Given the description of an element on the screen output the (x, y) to click on. 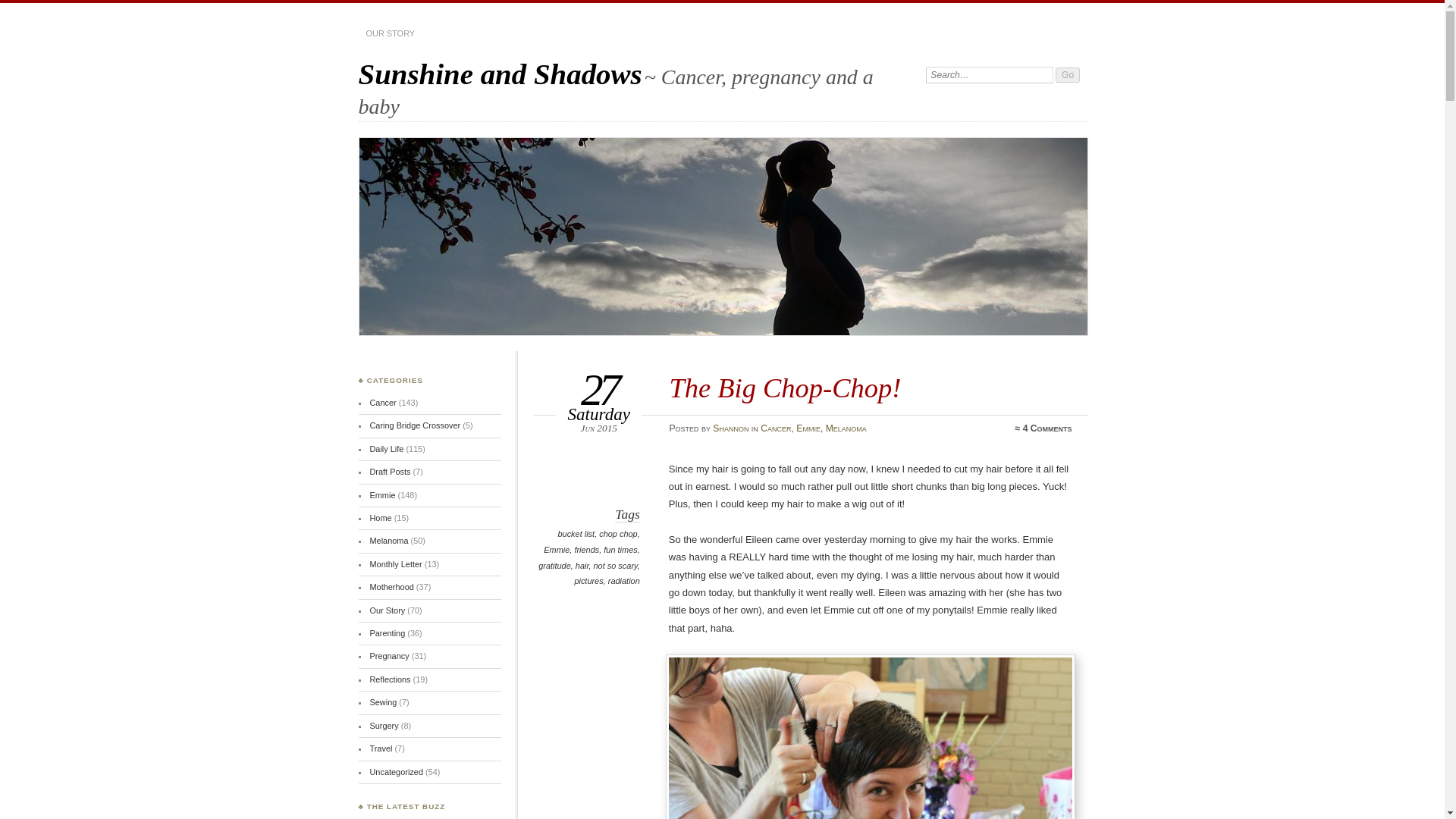
radiation (624, 580)
Shannon (730, 428)
Go (1067, 74)
not so scary (615, 565)
friends (585, 549)
bucket list (575, 533)
hair (582, 565)
Sunshine and Shadows (500, 73)
pictures (587, 580)
Go (1067, 74)
gratitude (554, 565)
View all posts by Shannon (730, 428)
Cancer (382, 402)
Sunshine and Shadows (500, 73)
